Given the description of an element on the screen output the (x, y) to click on. 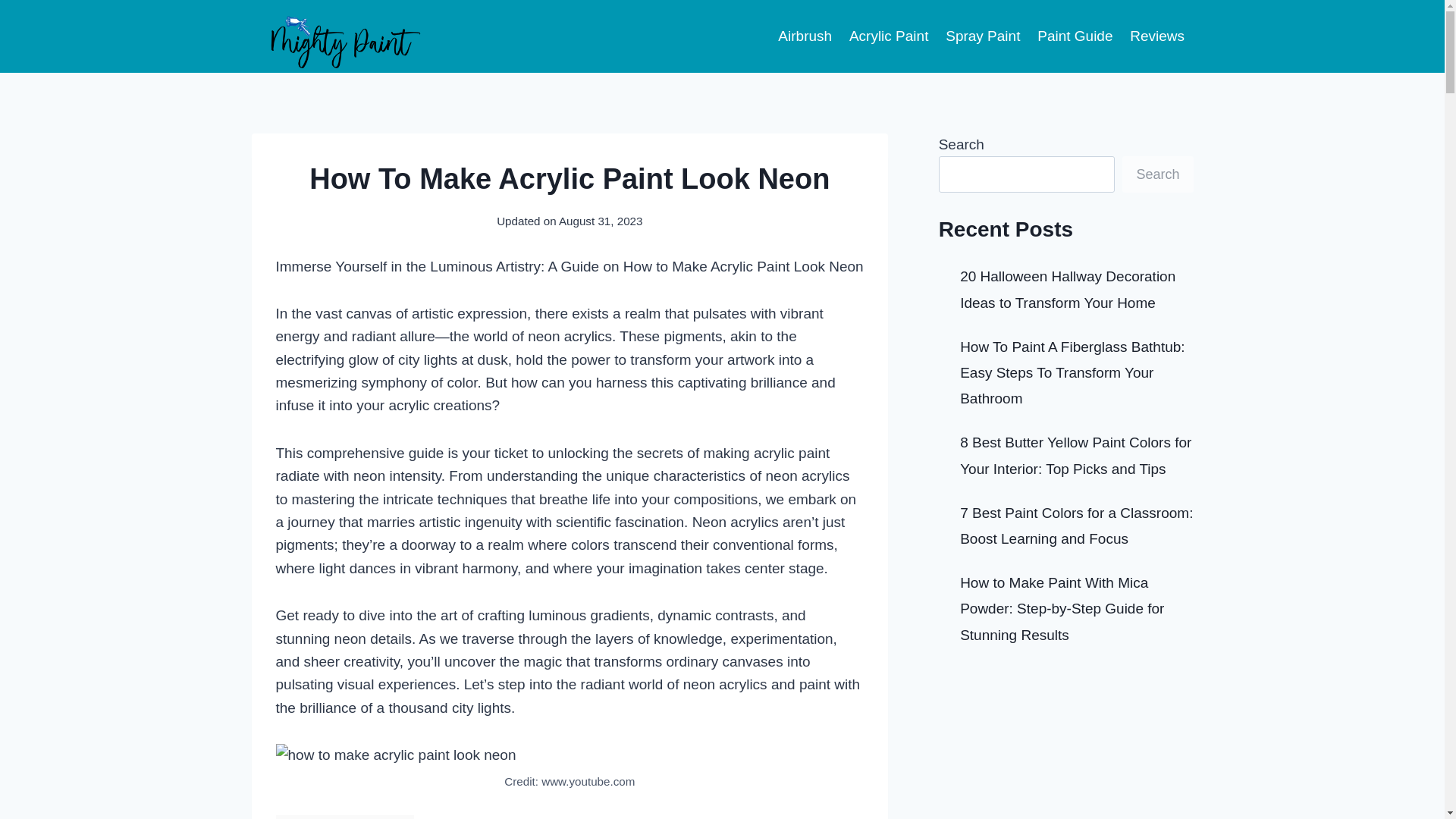
Airbrush (805, 35)
Spray Paint (983, 35)
Paint Guide (1075, 35)
Acrylic Paint (888, 35)
Reviews (1157, 35)
